Given the description of an element on the screen output the (x, y) to click on. 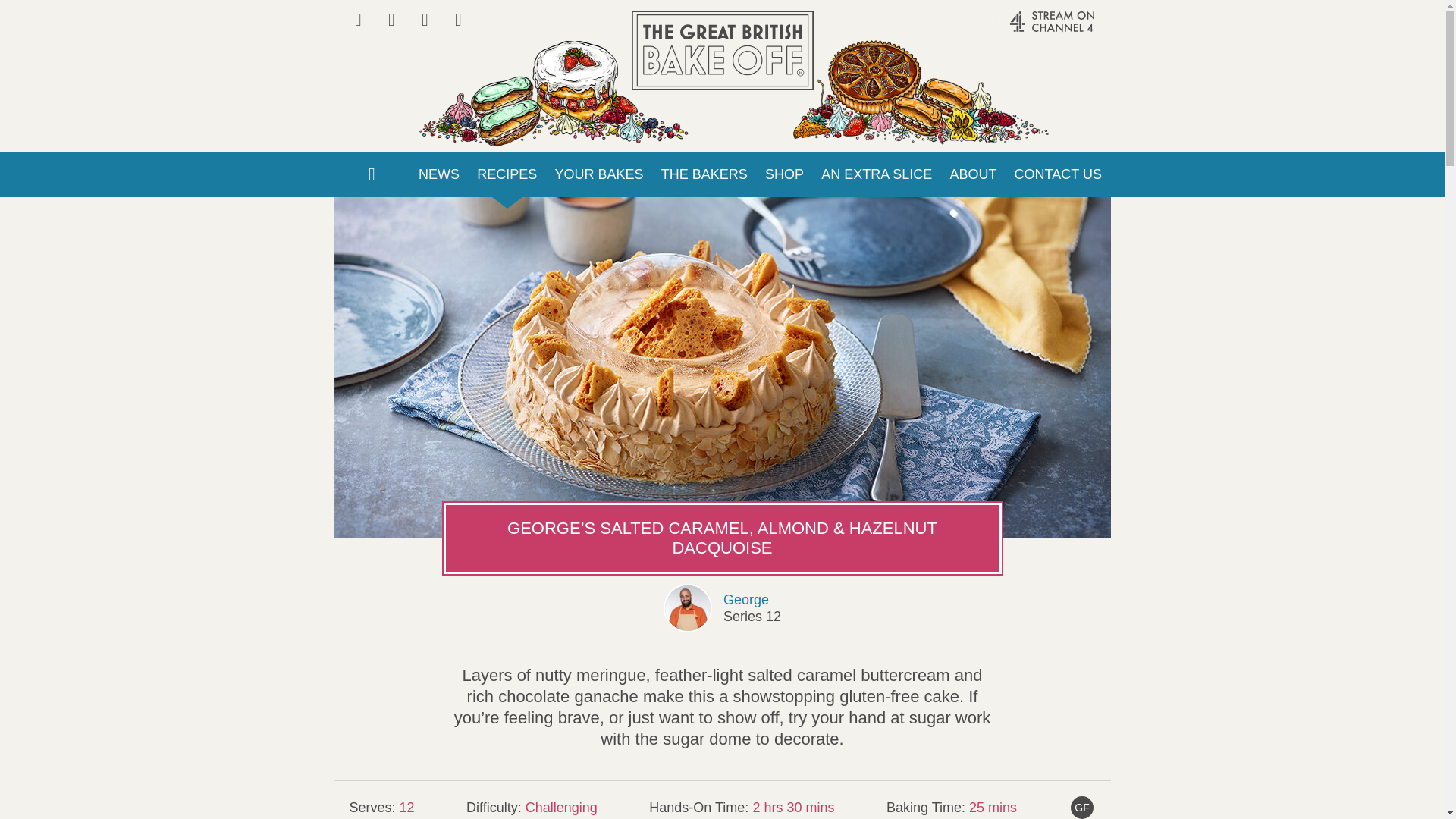
ABOUT (973, 174)
THE BAKERS (703, 174)
The Great British Bake Off (721, 50)
AN EXTRA SLICE (876, 174)
Gluten Free (1081, 807)
HOME (371, 174)
CONTACT US (1058, 174)
NEWS (438, 174)
STREAM ON CHANNEL 4 (1021, 29)
YOUR BAKES (599, 174)
George (746, 599)
RECIPES (507, 174)
SHOP (783, 174)
